Given the description of an element on the screen output the (x, y) to click on. 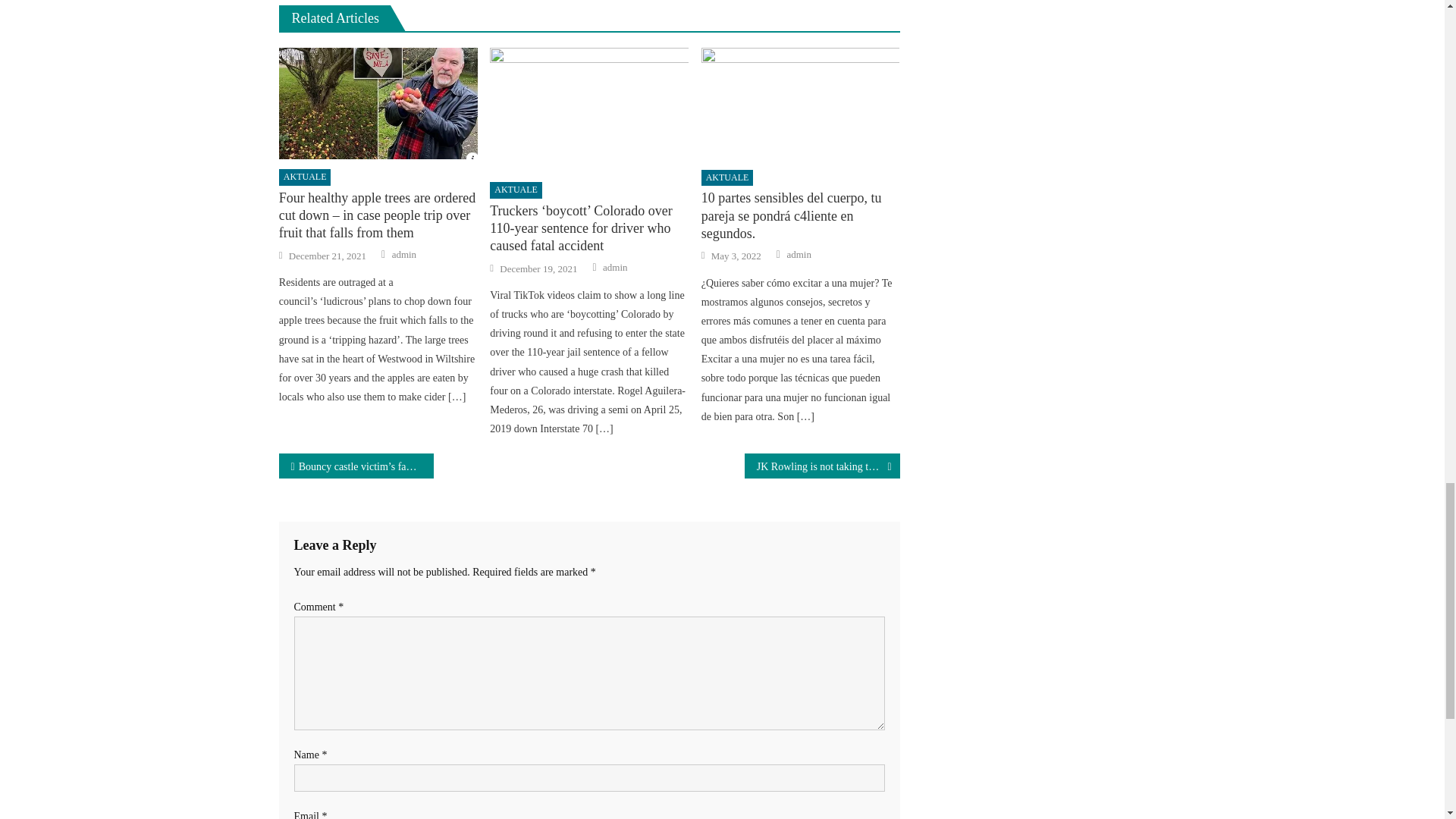
admin (403, 254)
AKTUALE (727, 177)
admin (614, 267)
admin (798, 254)
AKTUALE (305, 176)
December 19, 2021 (537, 269)
AKTUALE (515, 190)
May 3, 2022 (736, 255)
December 21, 2021 (327, 255)
